Given the description of an element on the screen output the (x, y) to click on. 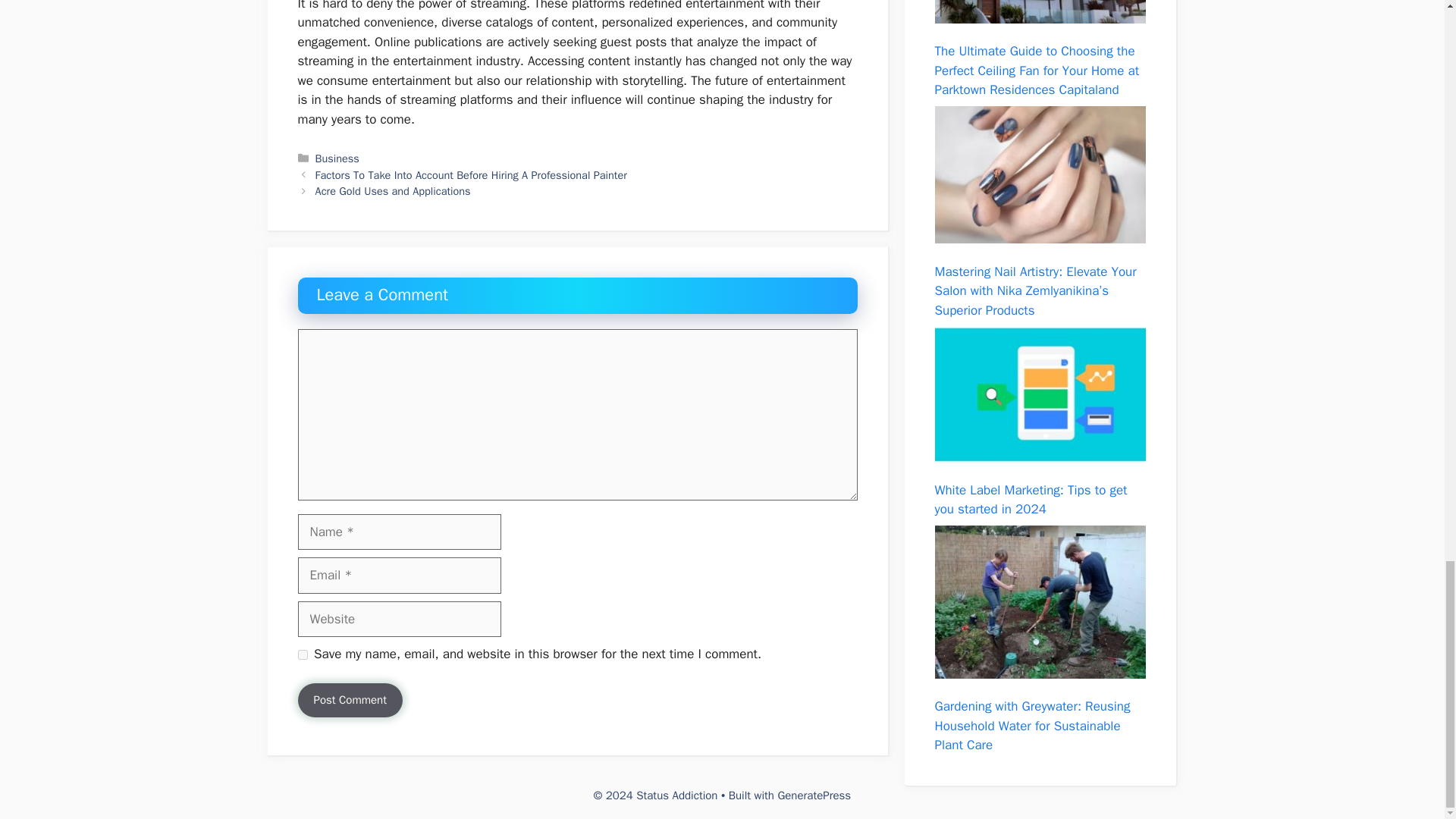
yes (302, 655)
Post Comment (349, 700)
Business (337, 158)
Post Comment (349, 700)
Acre Gold Uses and Applications (392, 191)
